Given the description of an element on the screen output the (x, y) to click on. 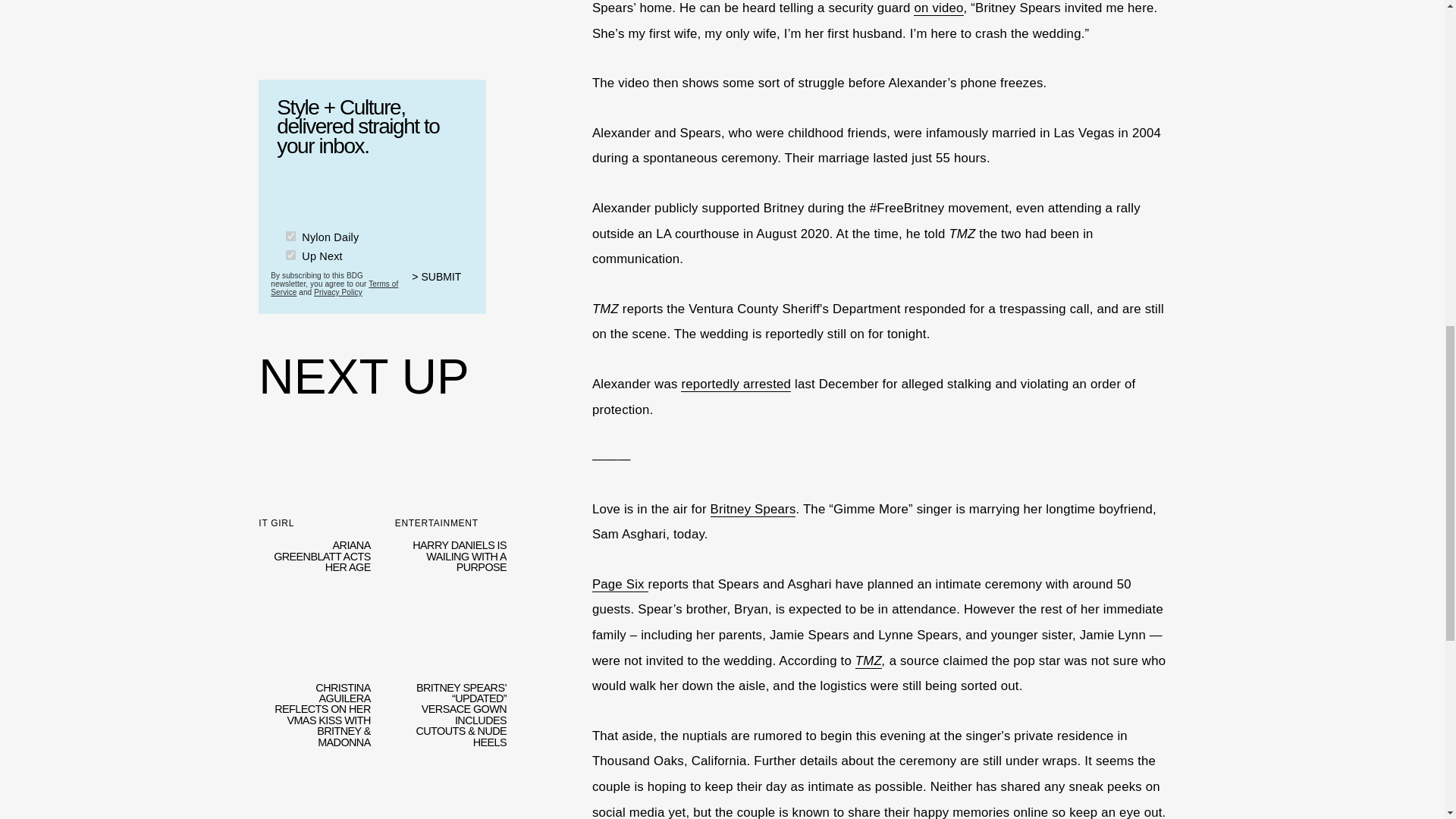
on video (938, 7)
Britney Spears (753, 509)
SUBMIT (443, 286)
Page Six (619, 584)
Terms of Service (333, 288)
reportedly arrested (735, 384)
TMZ (869, 661)
Privacy Policy (338, 292)
